Given the description of an element on the screen output the (x, y) to click on. 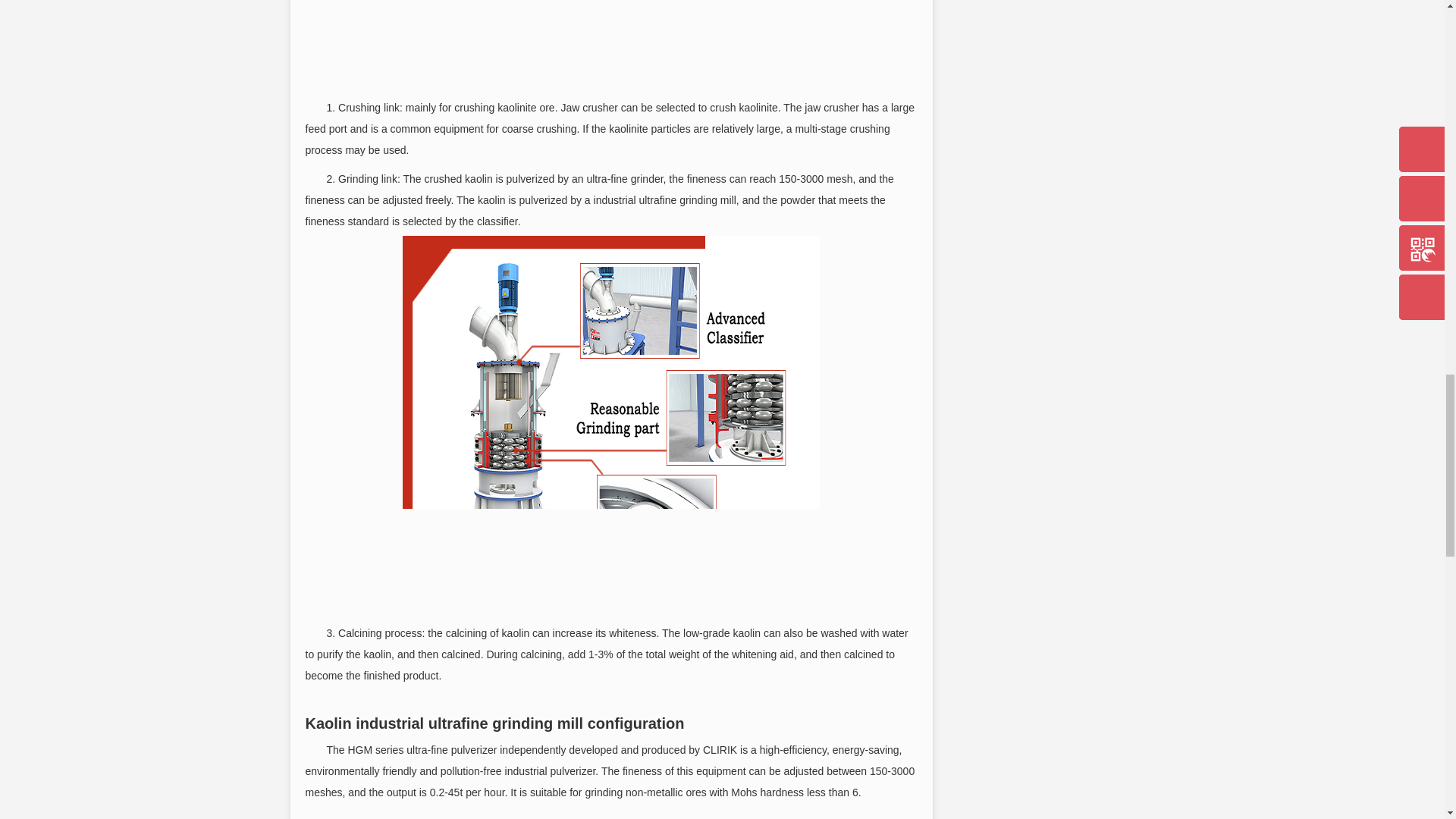
YouTube video player (611, 46)
YouTube video player (611, 814)
